Given the description of an element on the screen output the (x, y) to click on. 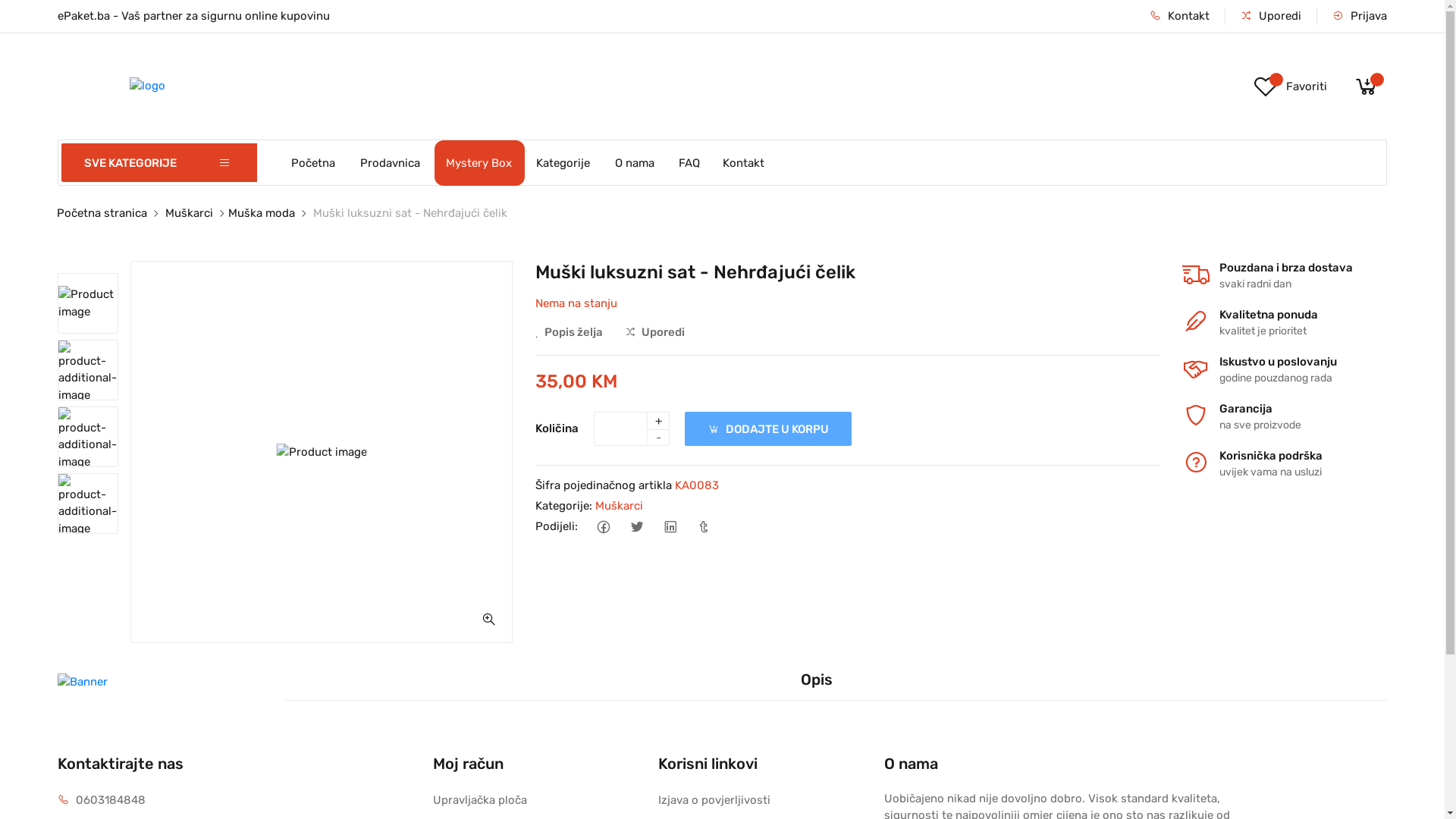
Favoriti Element type: text (1289, 86)
Mystery Box Element type: text (479, 162)
DODAJTE U KORPU Element type: text (767, 428)
Prijava Element type: text (1359, 16)
Tumblr Element type: hover (703, 526)
Kategorije Element type: text (563, 162)
O nama Element type: text (635, 162)
Uporedi Element type: text (654, 332)
Izjava o povjerljivosti Element type: text (714, 800)
FAQ Element type: text (689, 162)
Linkedin Element type: hover (669, 526)
Kontakt Element type: text (743, 162)
Uporedi Element type: text (1270, 16)
Kontakt Element type: text (1179, 16)
Twitter Element type: hover (636, 526)
Prodavnica Element type: text (391, 162)
- Element type: text (657, 437)
Facebook Element type: hover (602, 526)
Opis Element type: text (815, 679)
+ Element type: text (657, 420)
